Given the description of an element on the screen output the (x, y) to click on. 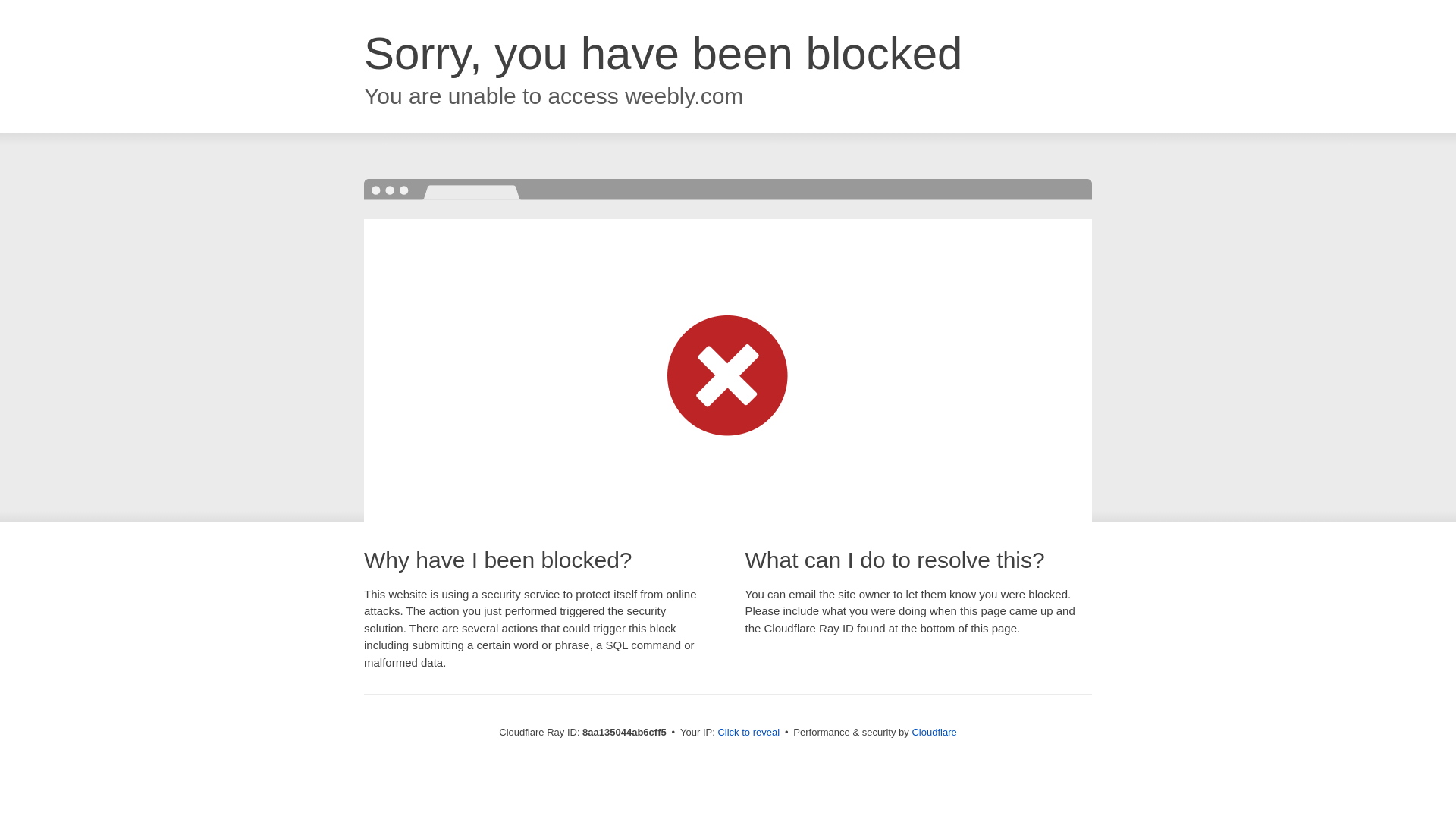
Click to reveal (747, 732)
Cloudflare (933, 731)
